Given the description of an element on the screen output the (x, y) to click on. 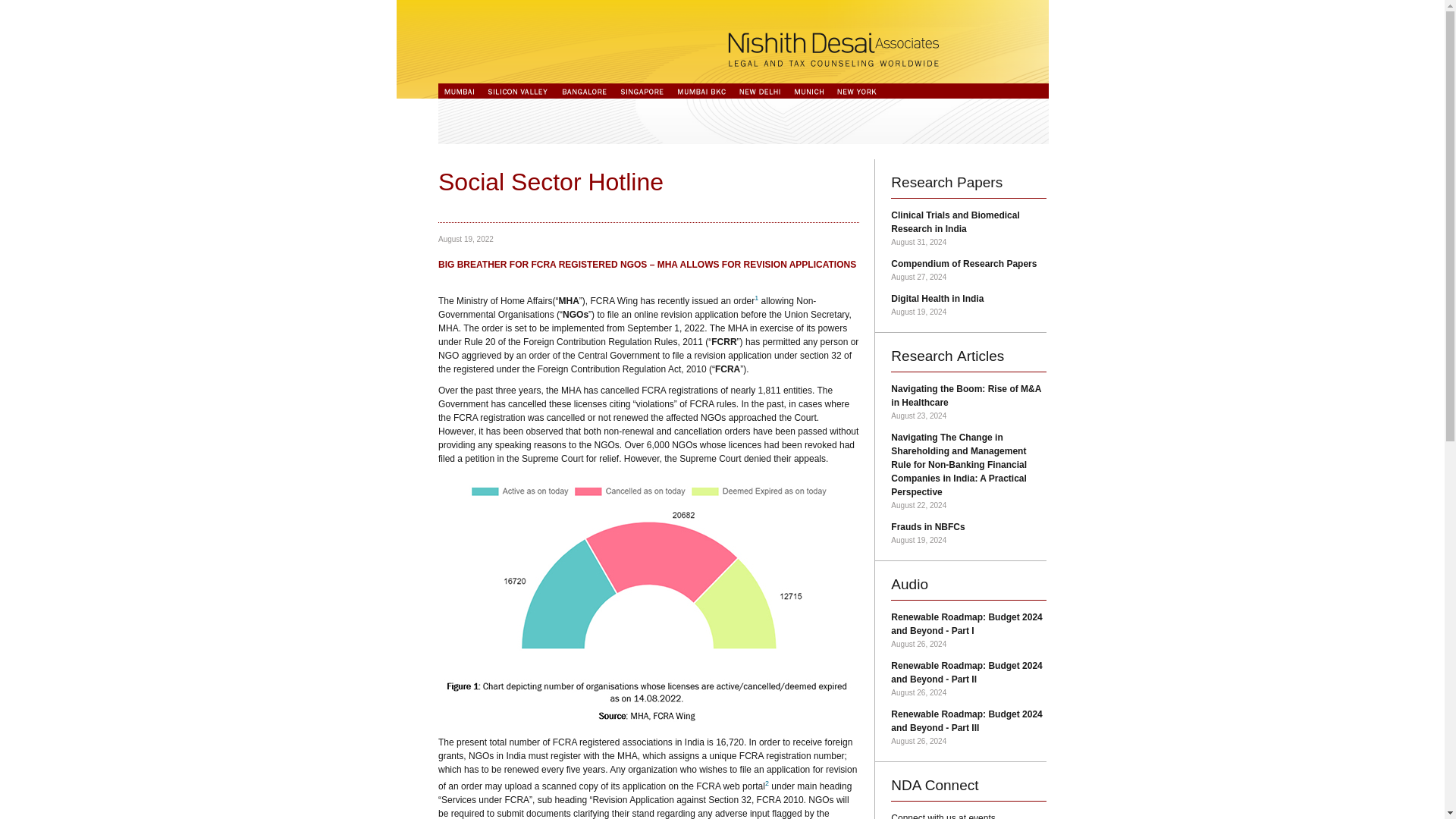
Compendium of Research Papers (963, 263)
Renewable Roadmap: Budget 2024 and Beyond - Part I (966, 623)
Digital Health in India (937, 298)
Clinical Trials and Biomedical Research in India (955, 221)
Connect (951, 785)
Renewable Roadmap: Budget 2024 and Beyond - Part III (966, 721)
Renewable Roadmap: Budget 2024 and Beyond - Part II (966, 672)
NDA (907, 785)
Clinical Trials and Biomedical Research in India (955, 221)
Frauds in NBFCs (927, 526)
